Given the description of an element on the screen output the (x, y) to click on. 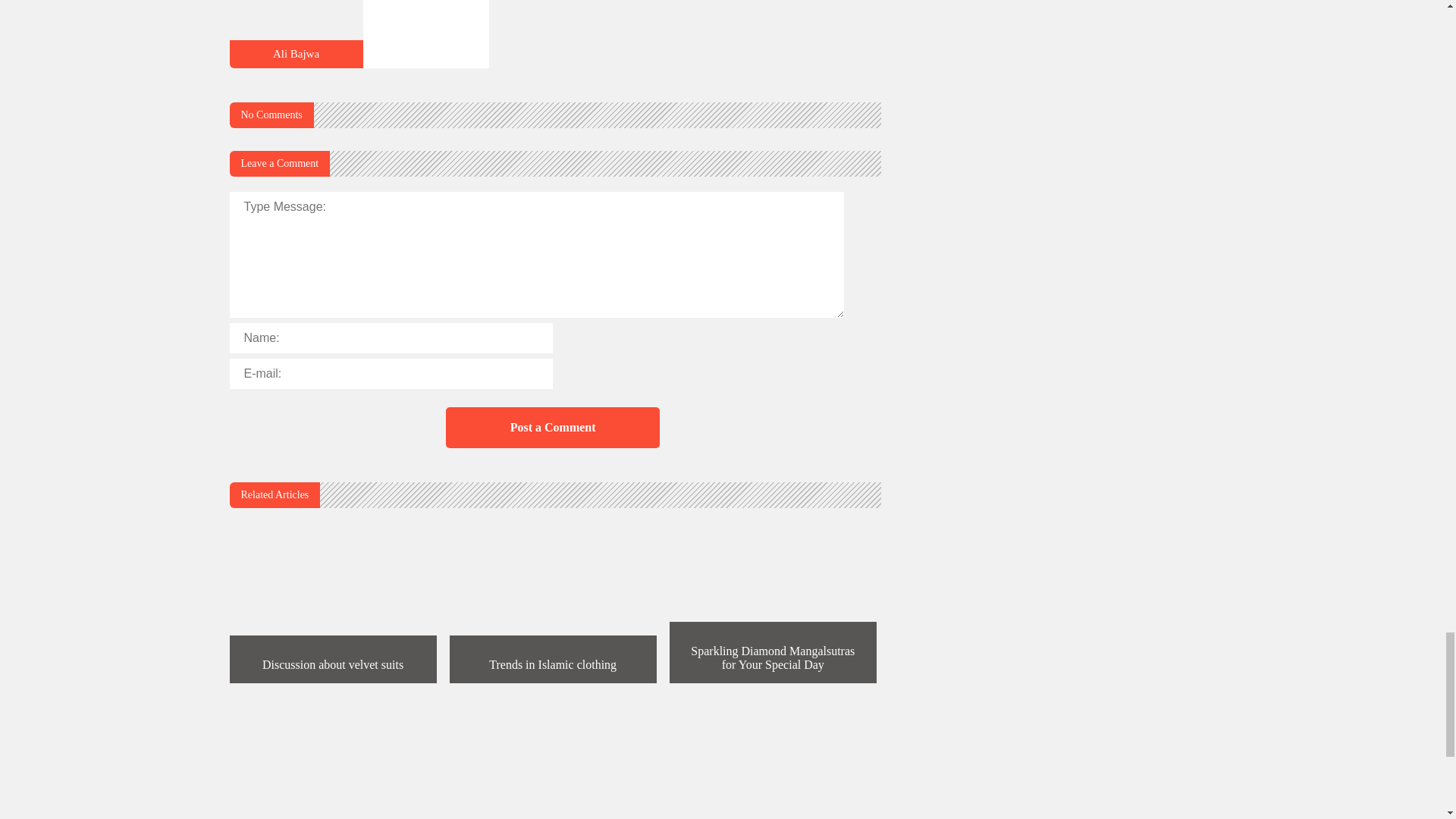
Post a Comment (552, 427)
